Given the description of an element on the screen output the (x, y) to click on. 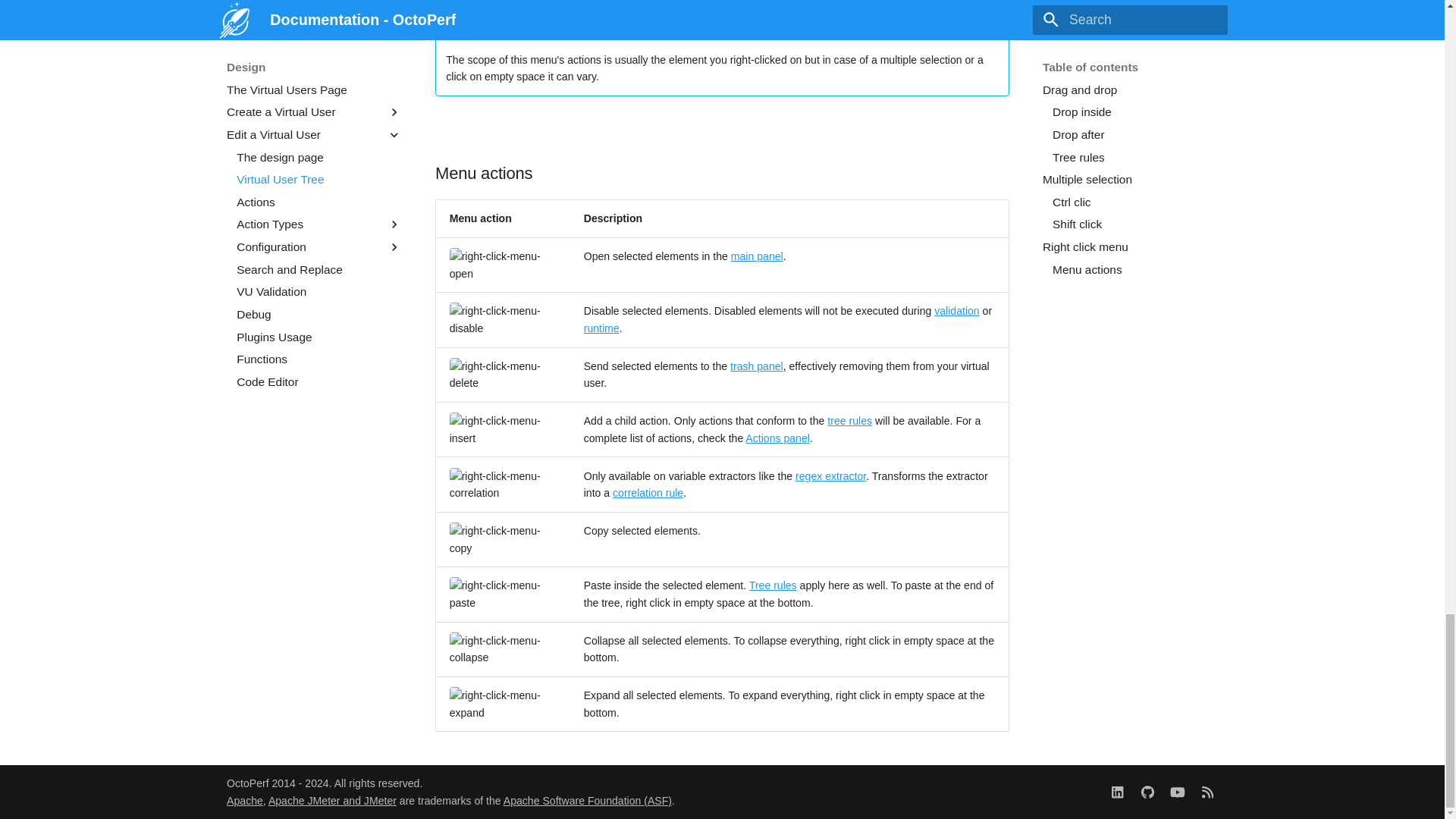
OctoPerf RSS (1207, 791)
JMeter (331, 800)
OctoPerf on Github (1147, 791)
Apache (245, 800)
OctoPerf on Linked'In (1117, 791)
Apache (587, 800)
